Given the description of an element on the screen output the (x, y) to click on. 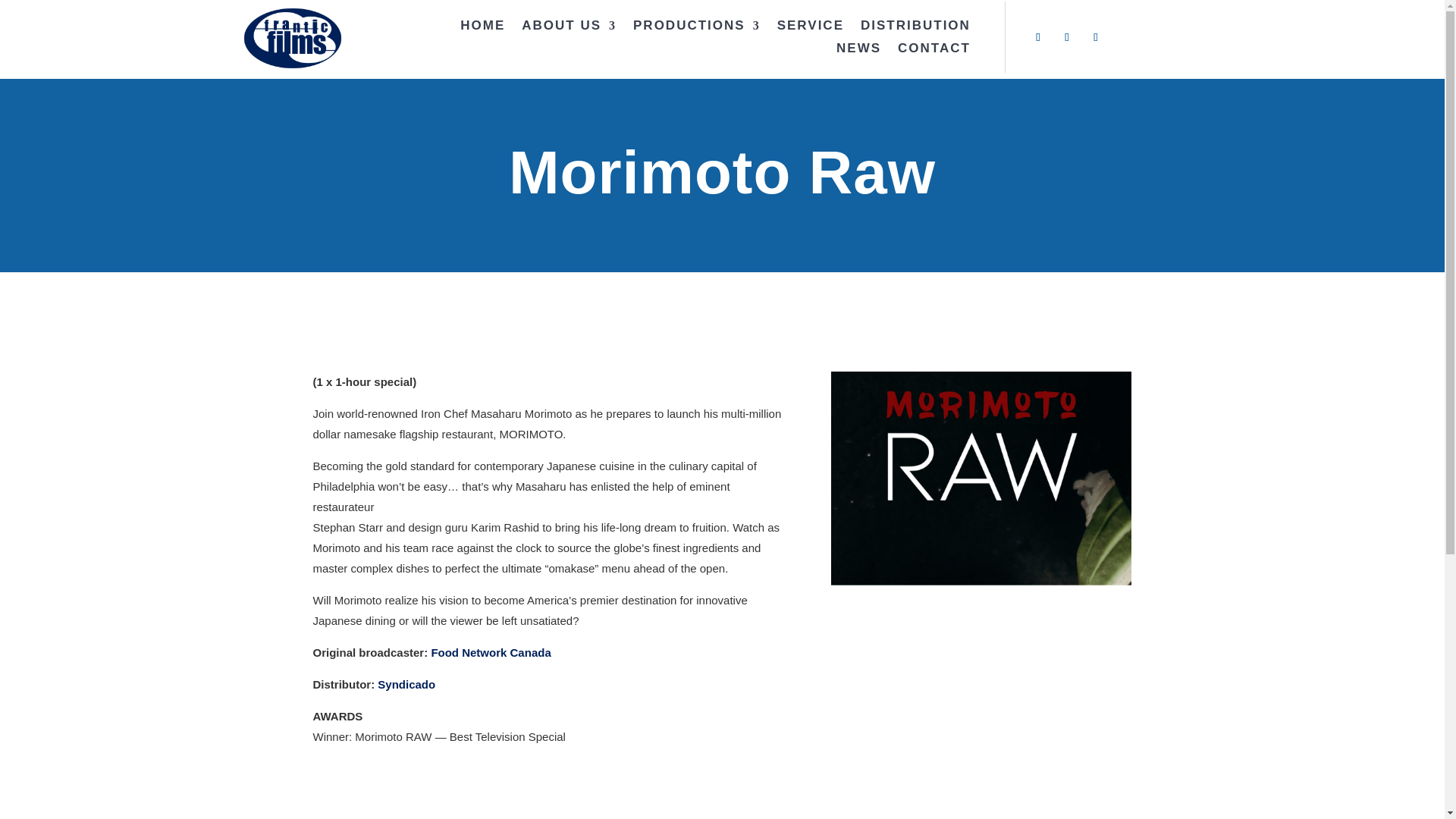
CONTACT (934, 51)
ABOUT US (568, 28)
HOME (482, 28)
Syndicado (406, 684)
Follow on X (1066, 36)
Follow on Facebook (1037, 36)
NEWS (857, 51)
Follow on Instagram (1095, 36)
Food Network Canada (490, 652)
PRODUCTIONS (696, 28)
DISTRIBUTION (915, 28)
SERVICE (810, 28)
frantic logo solid - alt blue (292, 37)
